Given the description of an element on the screen output the (x, y) to click on. 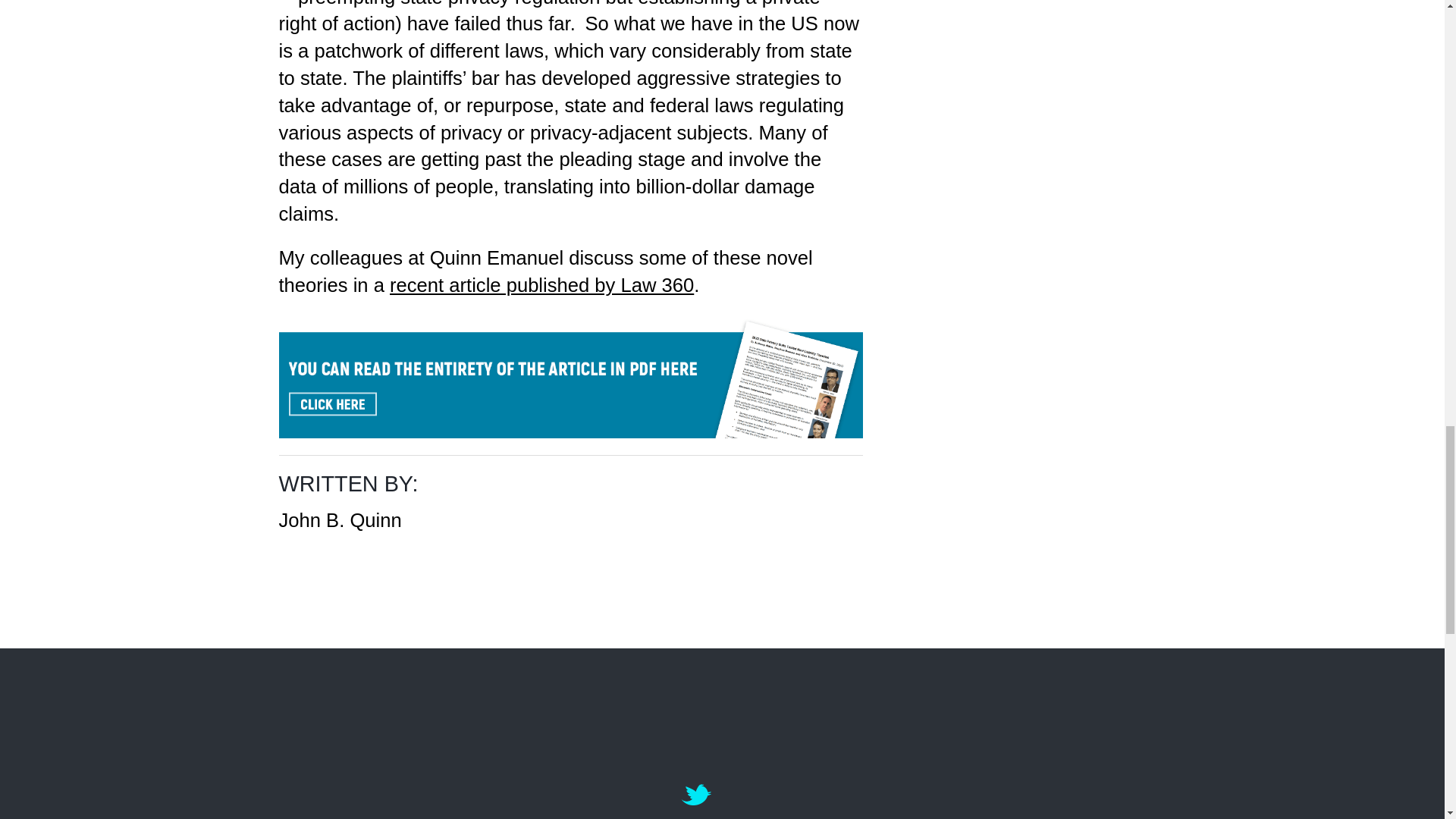
recent article published by Law 360 (542, 284)
